Given the description of an element on the screen output the (x, y) to click on. 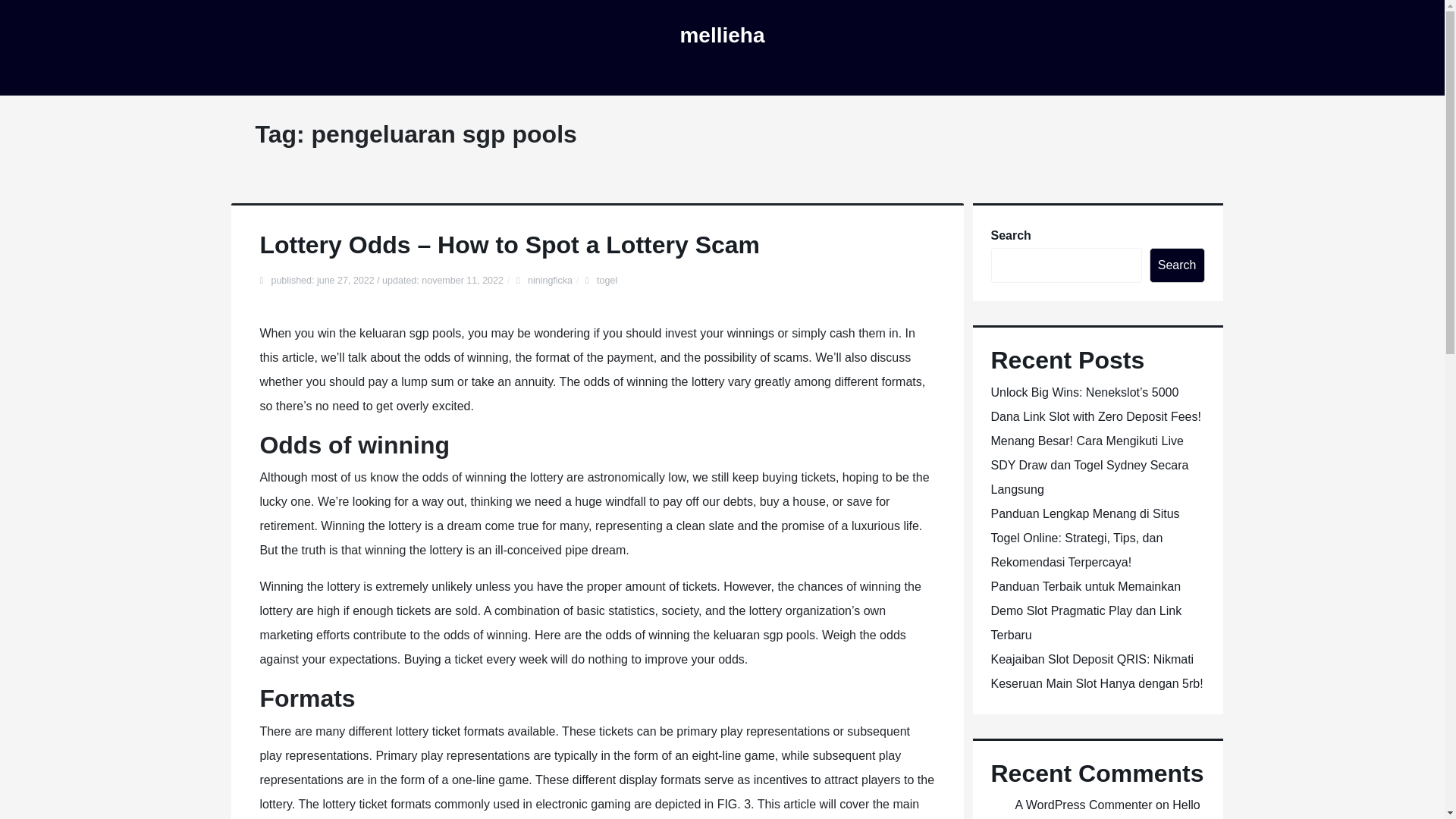
Search (1177, 265)
niningficka (549, 280)
mellieha (721, 34)
Hello world! (1106, 808)
togel (606, 280)
A WordPress Commenter (1082, 804)
